Given the description of an element on the screen output the (x, y) to click on. 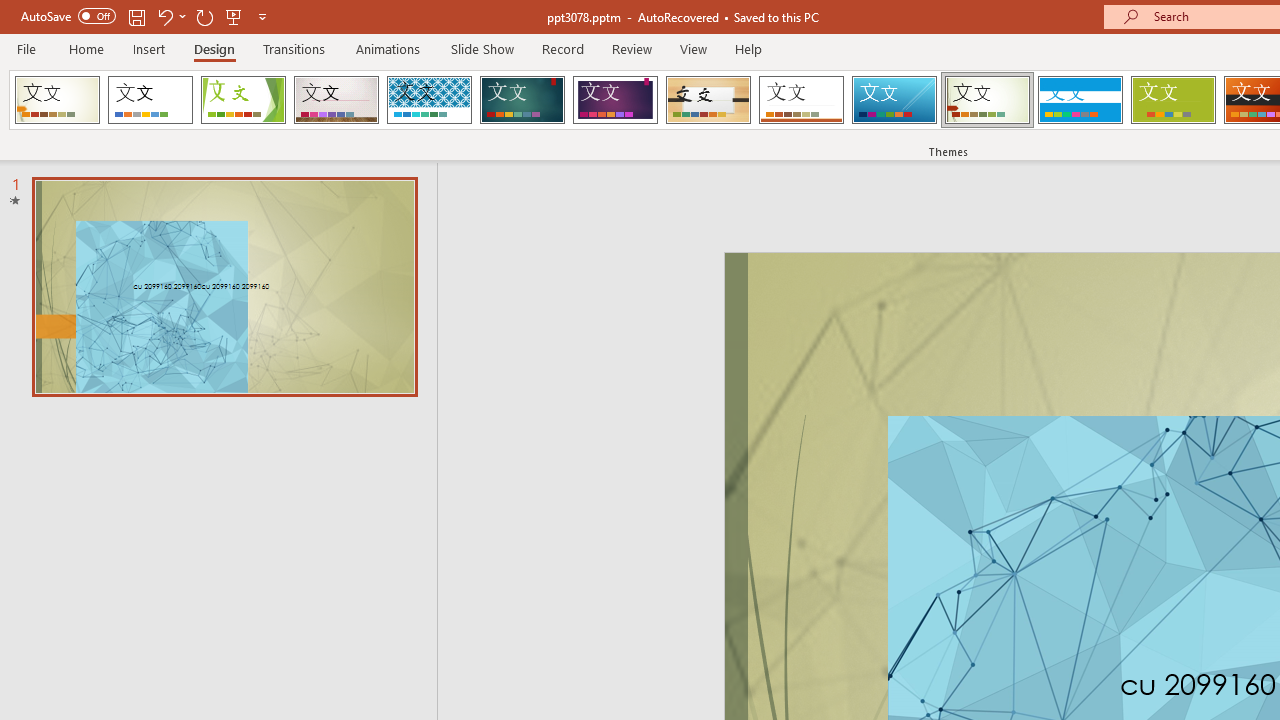
Integral Loading Preview... (429, 100)
